Given the description of an element on the screen output the (x, y) to click on. 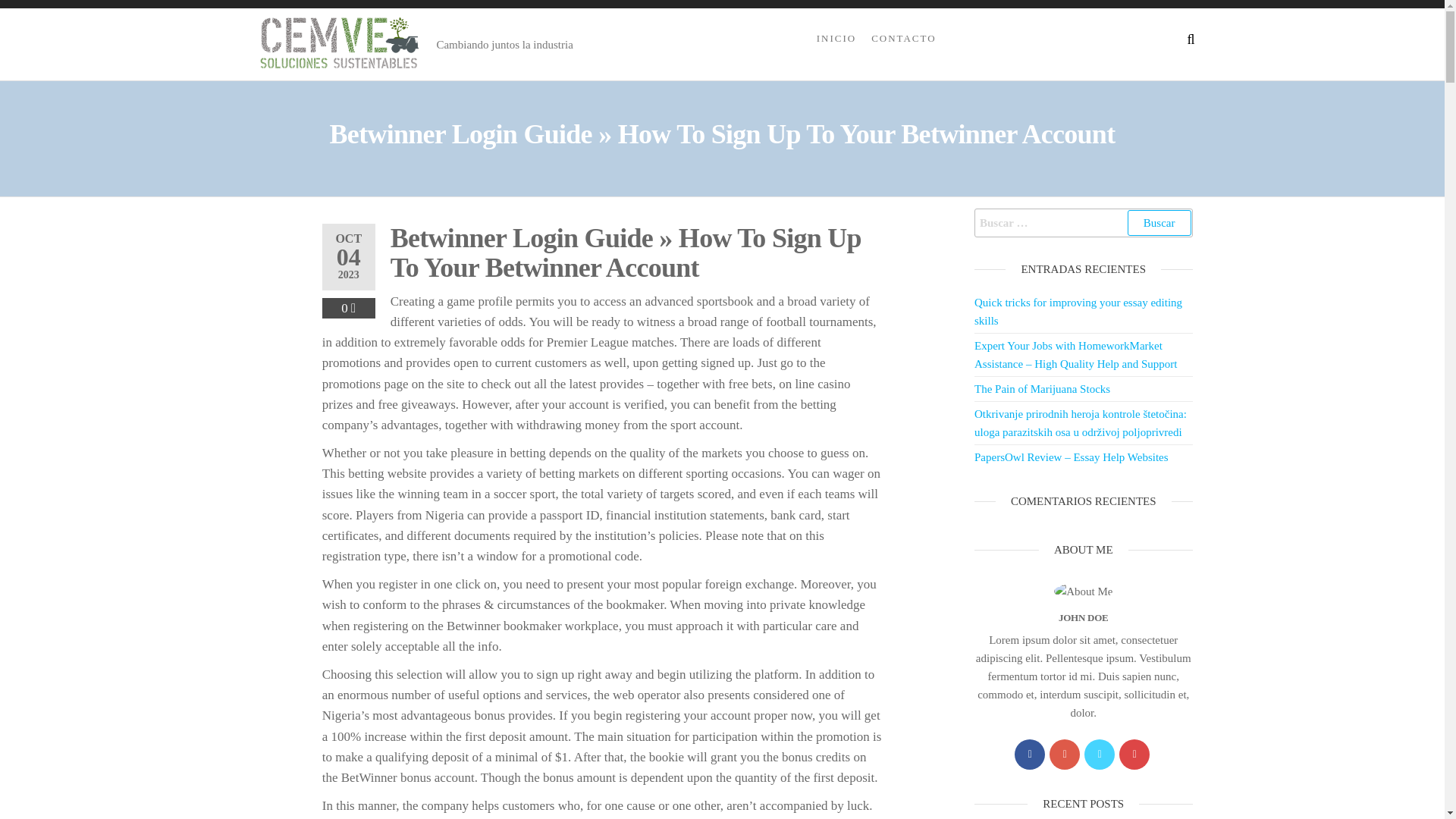
INICIO (836, 38)
Buscar (1158, 222)
CONTACTO (903, 38)
Facebook (1029, 754)
Buscar (1158, 222)
Buscar (1158, 222)
GooglePlus (1064, 754)
The Pain of Marijuana Stocks (1041, 388)
Quick tricks for improving your essay editing skills (1078, 311)
Youtube (1134, 754)
Contacto (903, 38)
Inicio (836, 38)
CEMVE (475, 47)
Twitter (1099, 754)
